Given the description of an element on the screen output the (x, y) to click on. 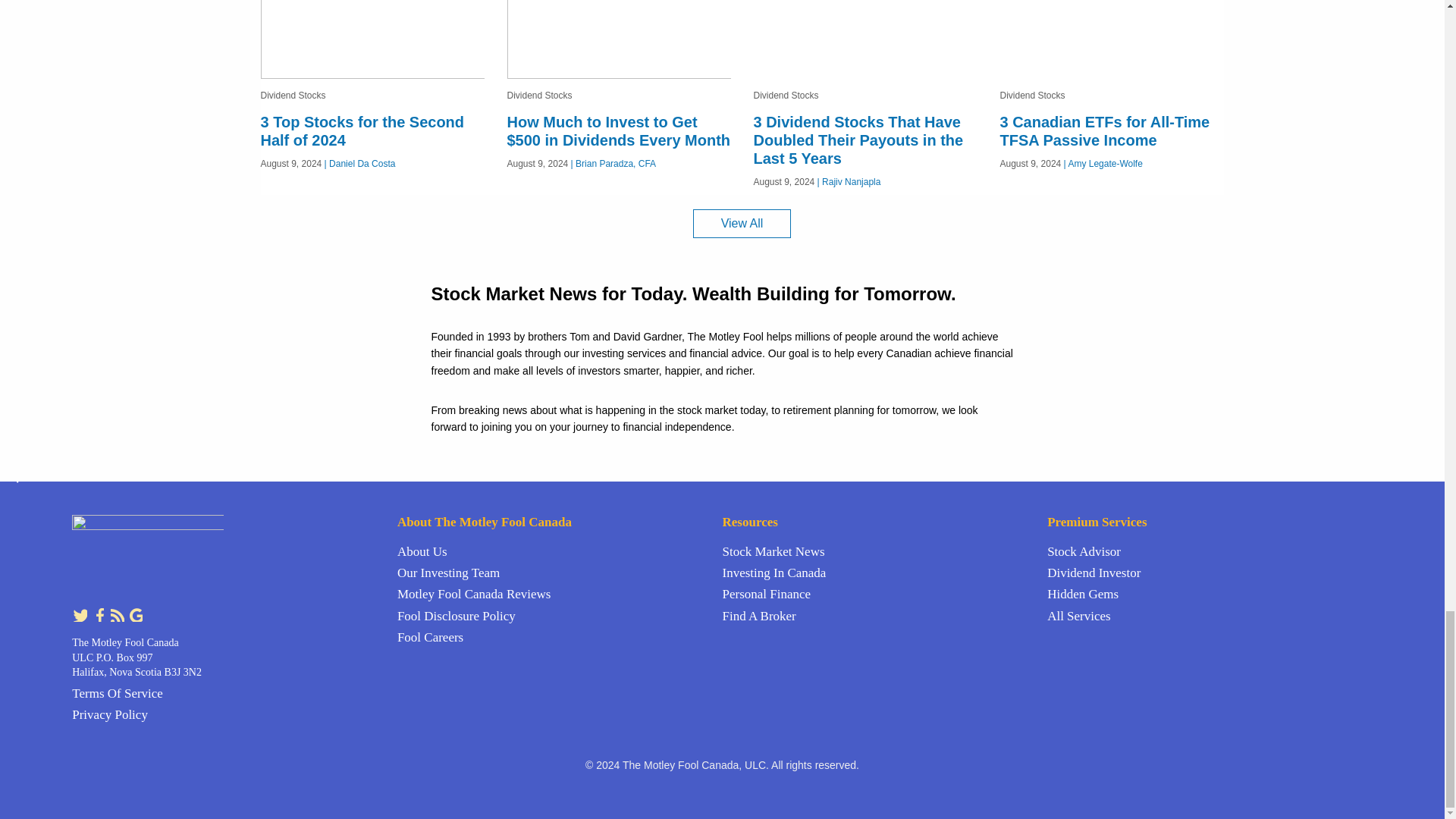
Follow us on Google News (135, 613)
Like us on Facebook (99, 613)
Follow us on Twitter (80, 613)
Subscribe to our feed (118, 613)
